Given the description of an element on the screen output the (x, y) to click on. 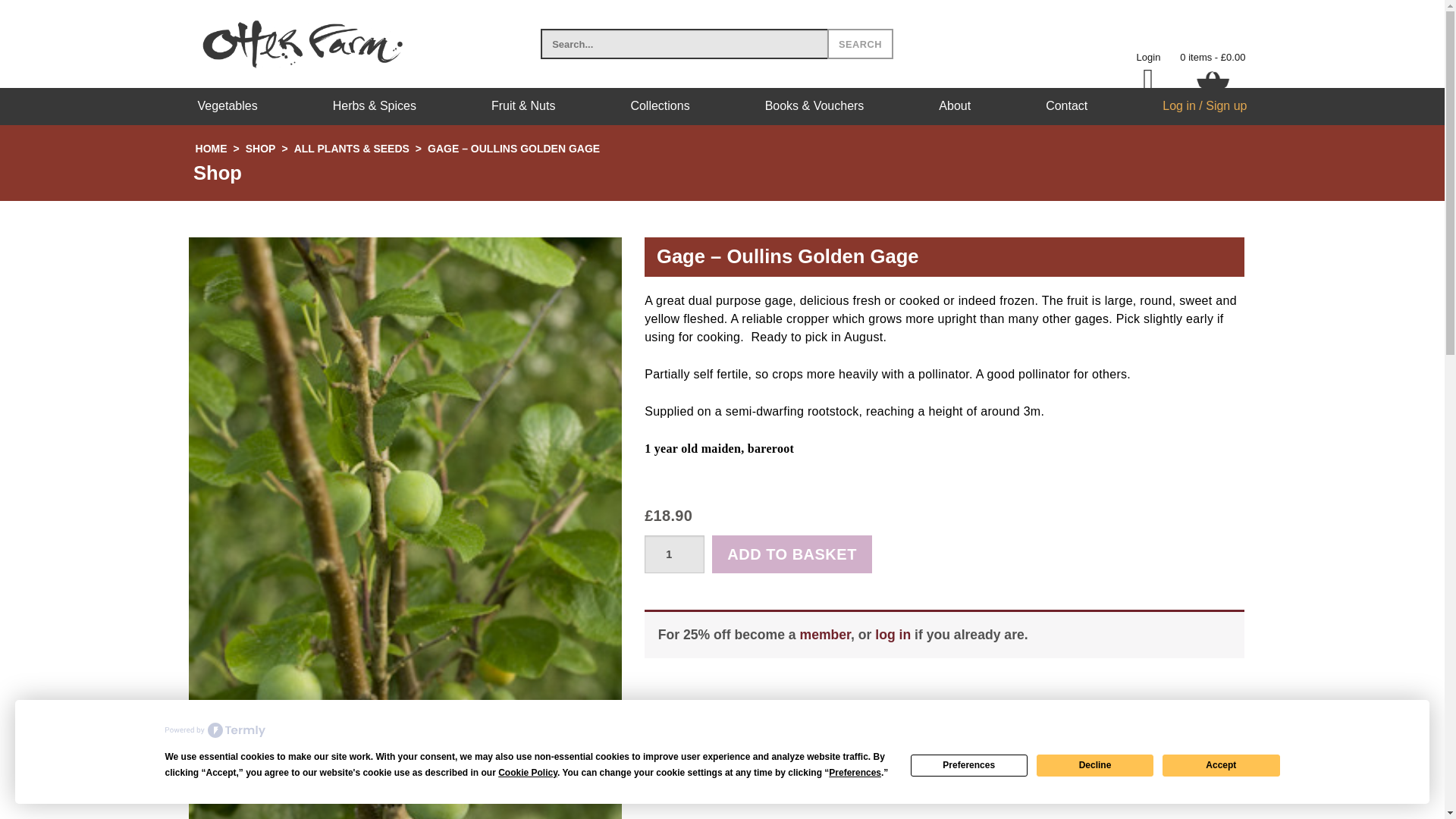
Search for: (683, 43)
Login (1148, 57)
1 (674, 554)
Search (860, 43)
Search (860, 43)
Vegetables (227, 106)
Home (211, 148)
Accept (1220, 764)
Members Area Login (1148, 57)
Search (860, 43)
